Given the description of an element on the screen output the (x, y) to click on. 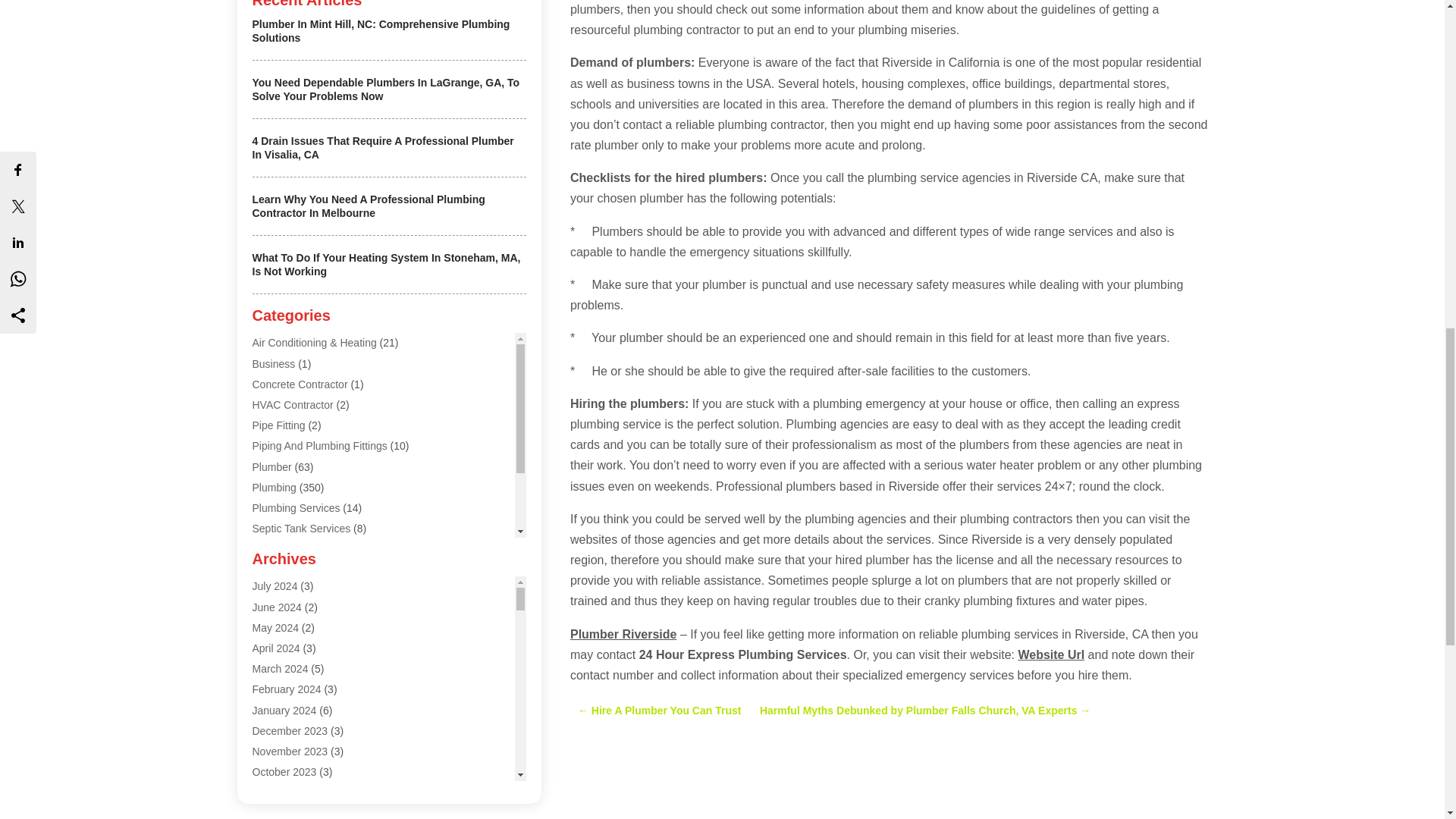
HVAC Contractor (292, 404)
Water Heater (282, 590)
Piping And Plumbing Fittings (319, 445)
Business (273, 363)
Plumber (271, 467)
Plumbing (273, 487)
June 2024 (276, 607)
Concrete Contractor (299, 384)
February 2024 (285, 689)
July 2024 (274, 585)
Uncategorized (285, 569)
Septic Tank Services (300, 528)
